Given the description of an element on the screen output the (x, y) to click on. 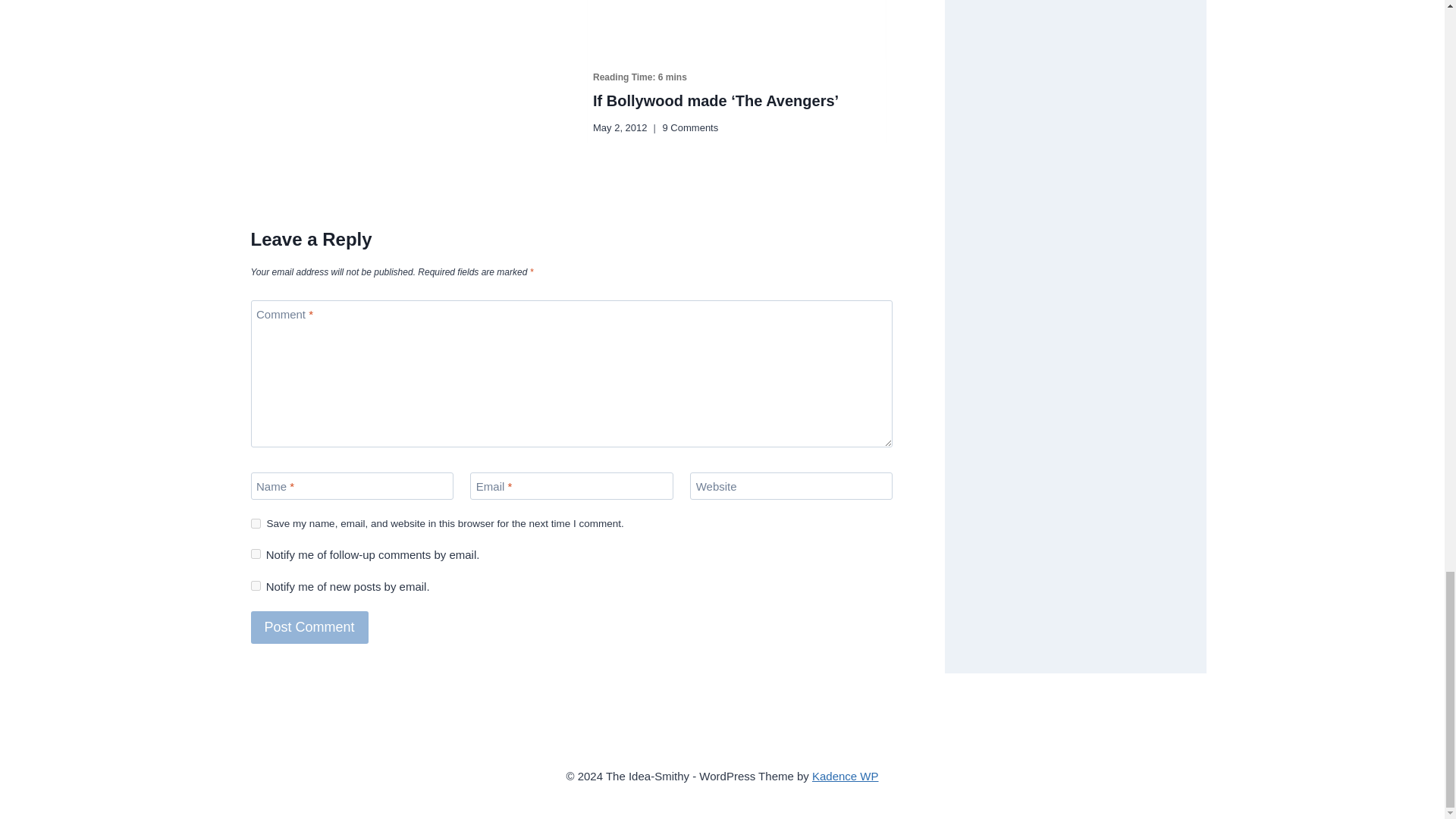
yes (255, 523)
Post Comment (309, 626)
9 Comments (690, 128)
subscribe (255, 553)
subscribe (255, 585)
